Given the description of an element on the screen output the (x, y) to click on. 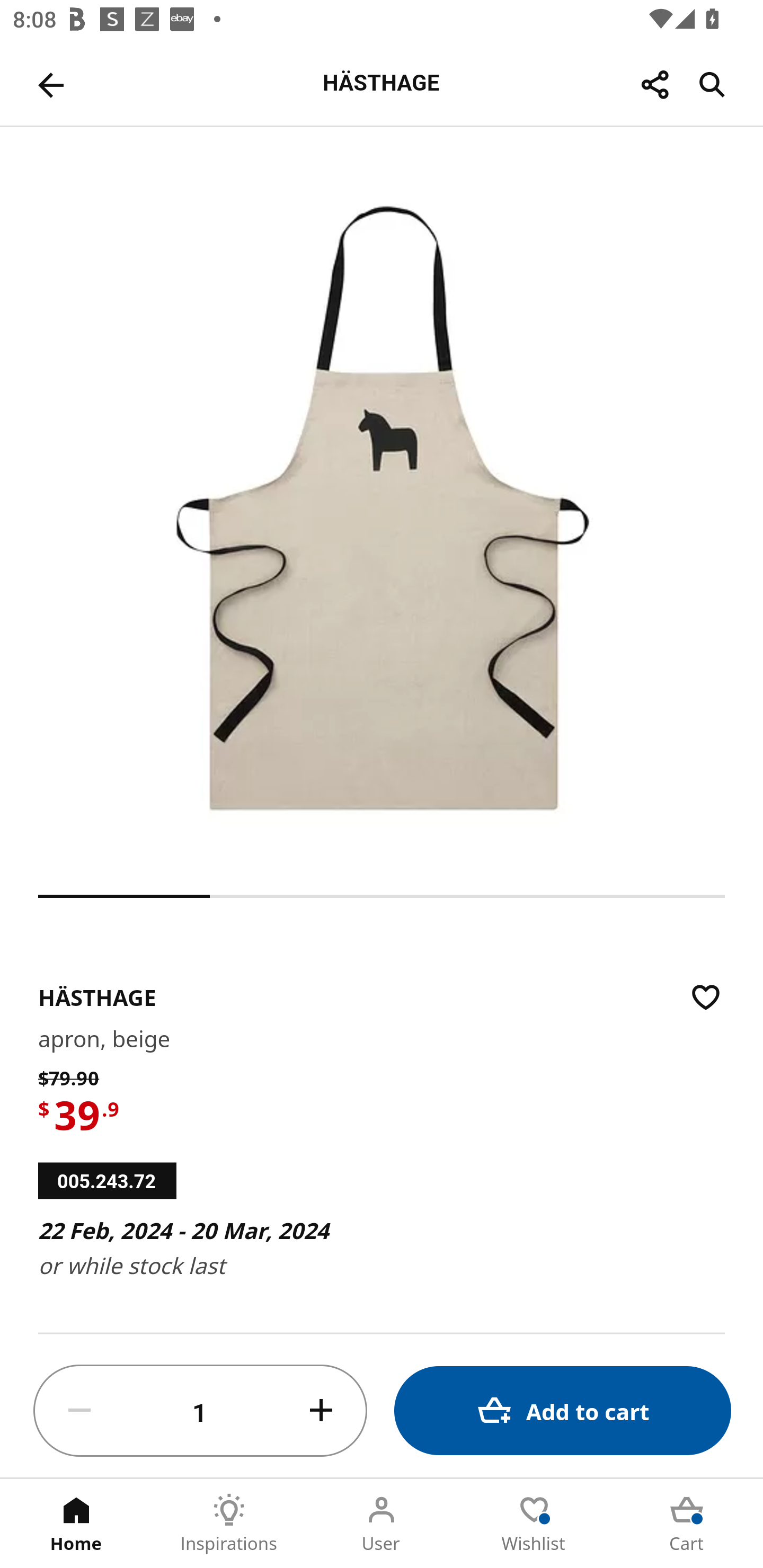
Add to cart (562, 1410)
1 (200, 1411)
Home
Tab 1 of 5 (76, 1522)
Inspirations
Tab 2 of 5 (228, 1522)
User
Tab 3 of 5 (381, 1522)
Wishlist
Tab 4 of 5 (533, 1522)
Cart
Tab 5 of 5 (686, 1522)
